Given the description of an element on the screen output the (x, y) to click on. 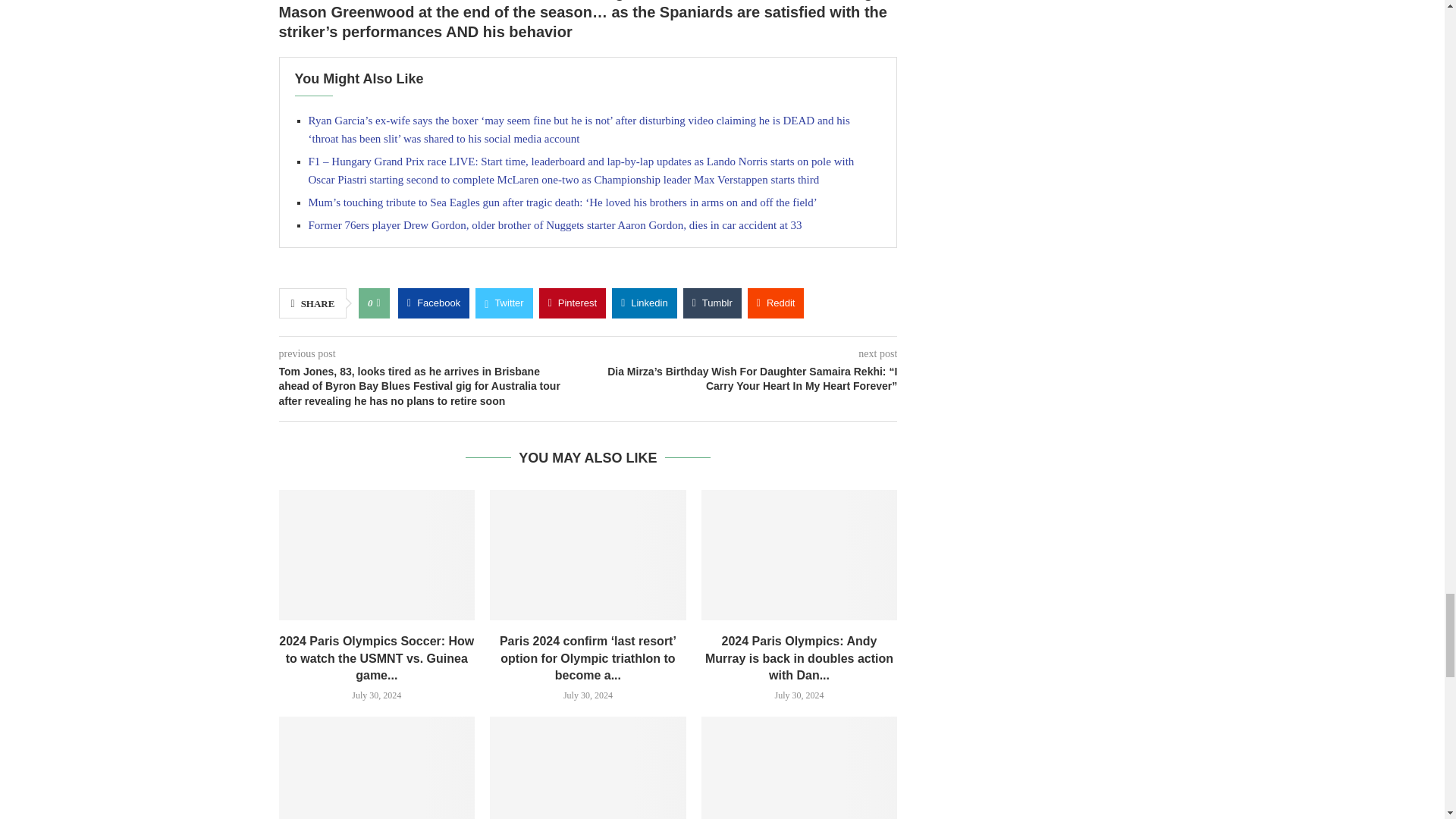
Like (377, 303)
